Given the description of an element on the screen output the (x, y) to click on. 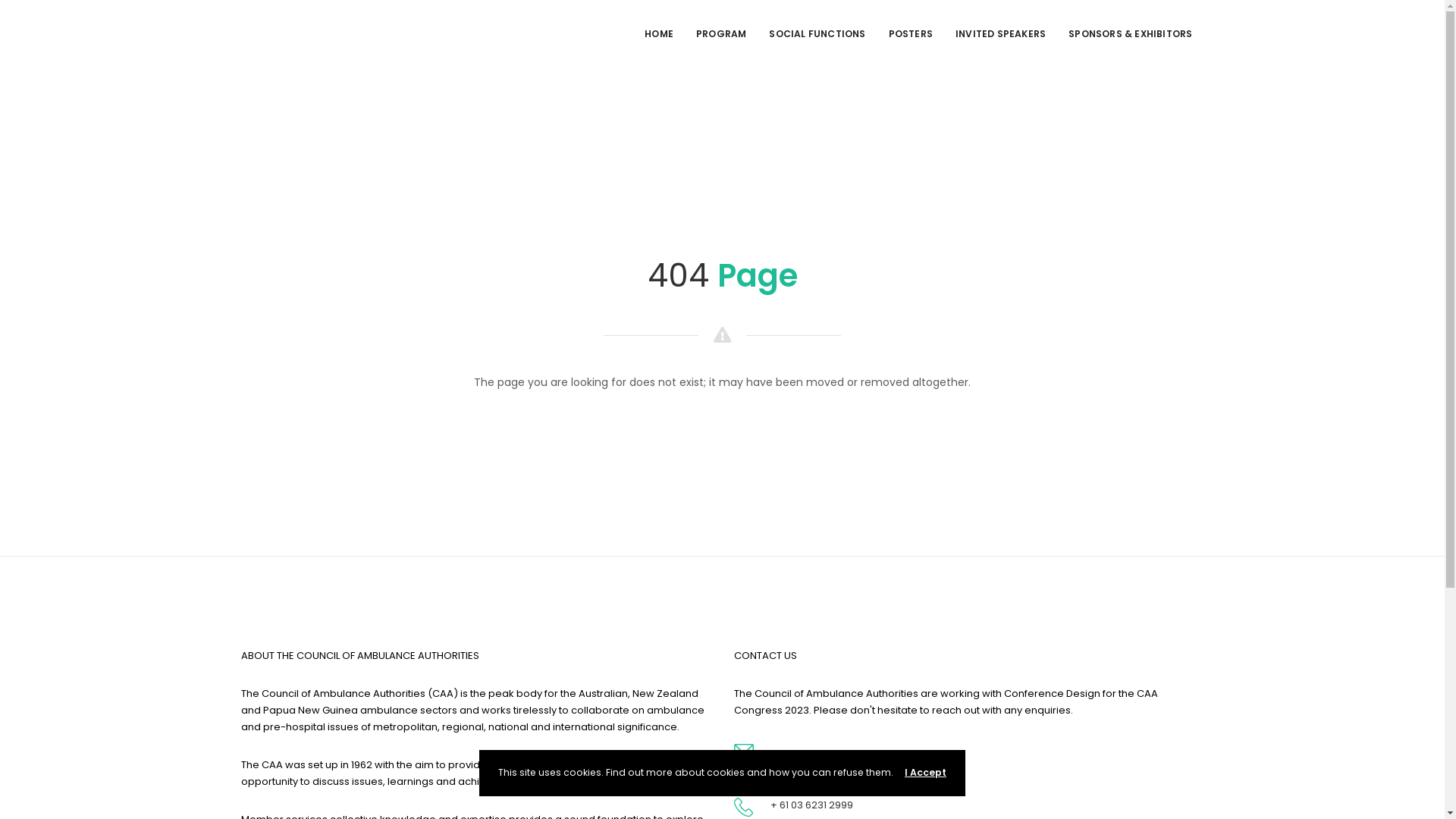
PROGRAM Element type: text (720, 34)
SPONSORS & EXHIBITORS Element type: text (1130, 34)
I Accept Element type: text (925, 771)
HOME Element type: text (658, 34)
POSTERS Element type: text (910, 34)
SOCIAL FUNCTIONS Element type: text (816, 34)
mail@conferencedesign.com.au Element type: text (855, 755)
INVITED SPEAKERS Element type: text (1000, 34)
